Given the description of an element on the screen output the (x, y) to click on. 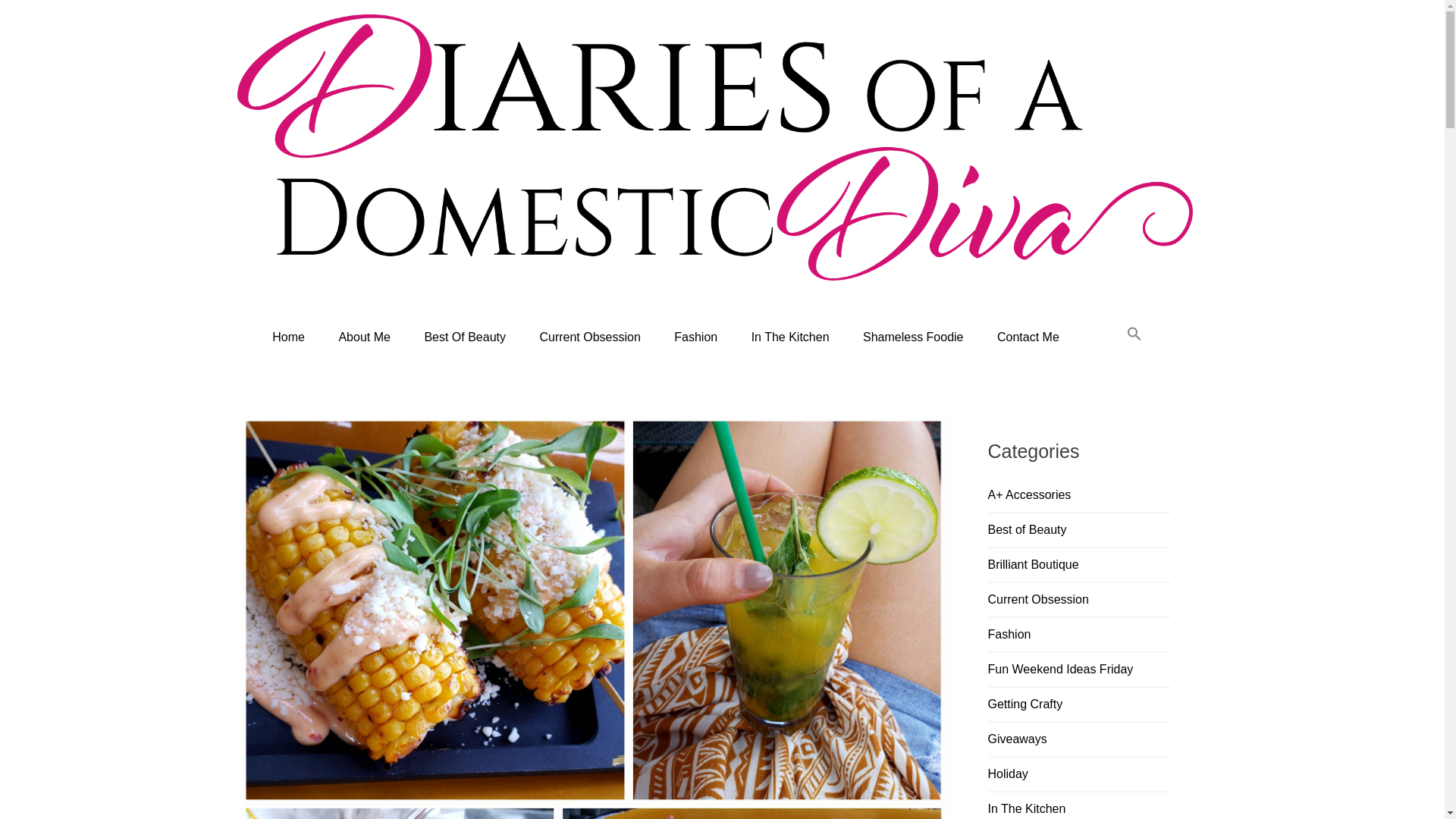
Holiday (1007, 773)
Best of Beauty (1026, 529)
Shameless Foodie (912, 337)
Home (288, 337)
Best Of Beauty (465, 337)
About Me (363, 337)
Fashion (1008, 634)
Getting Crafty (1024, 703)
Brilliant Boutique (1032, 563)
In The Kitchen (790, 337)
In The Kitchen (1026, 808)
Fashion (695, 337)
Fun Weekend Ideas Friday (1059, 668)
Giveaways (1016, 738)
Current Obsession (589, 337)
